Given the description of an element on the screen output the (x, y) to click on. 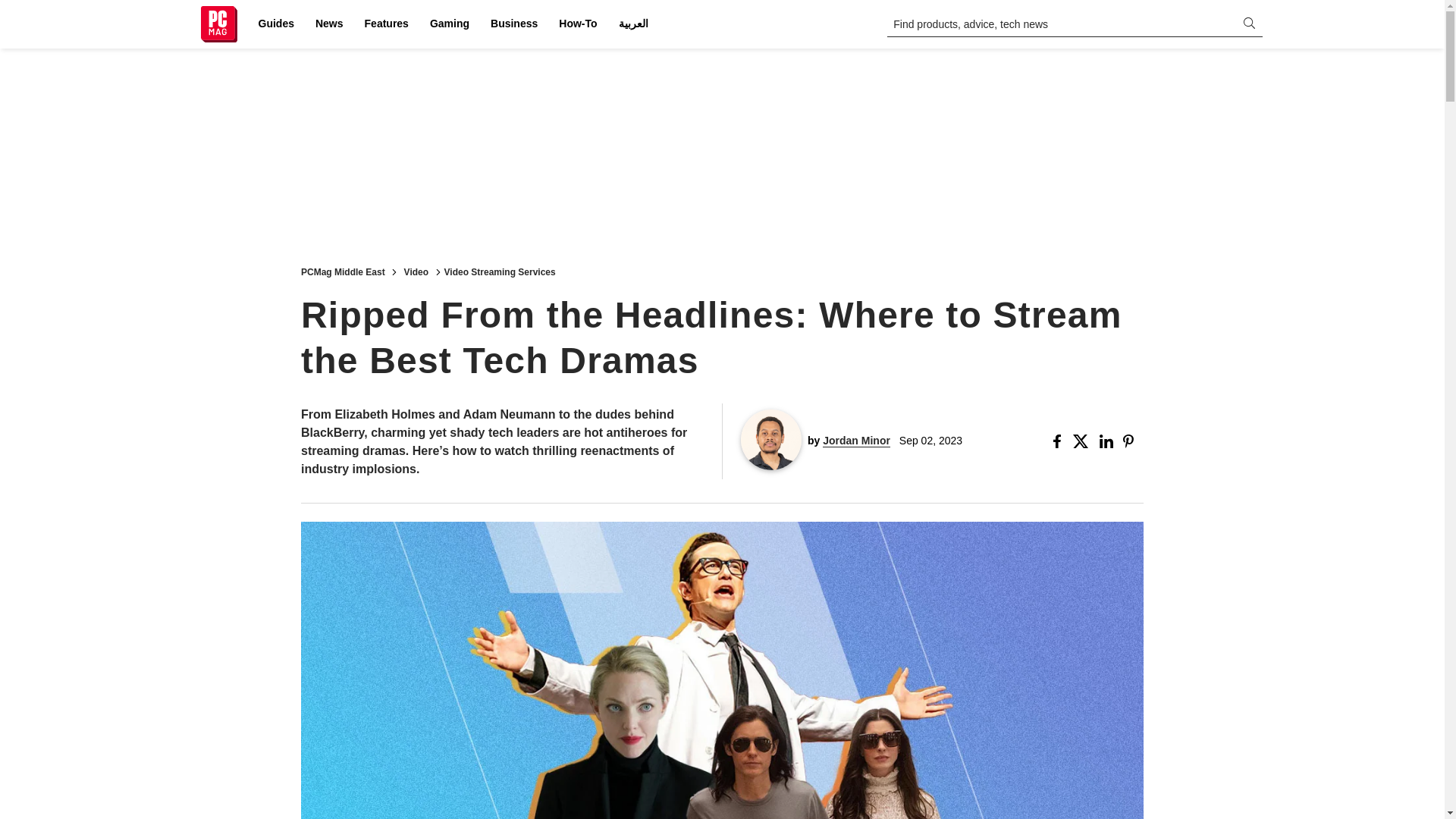
Share this Story on Linkedin (1107, 440)
Share this Story on X (1083, 440)
Search (21, 7)
Features (386, 24)
Business (513, 24)
Gaming (449, 24)
PCMag Middle East (343, 270)
Video (416, 270)
Share this Story on Facebook (1059, 440)
Jordan Minor (855, 440)
